Given the description of an element on the screen output the (x, y) to click on. 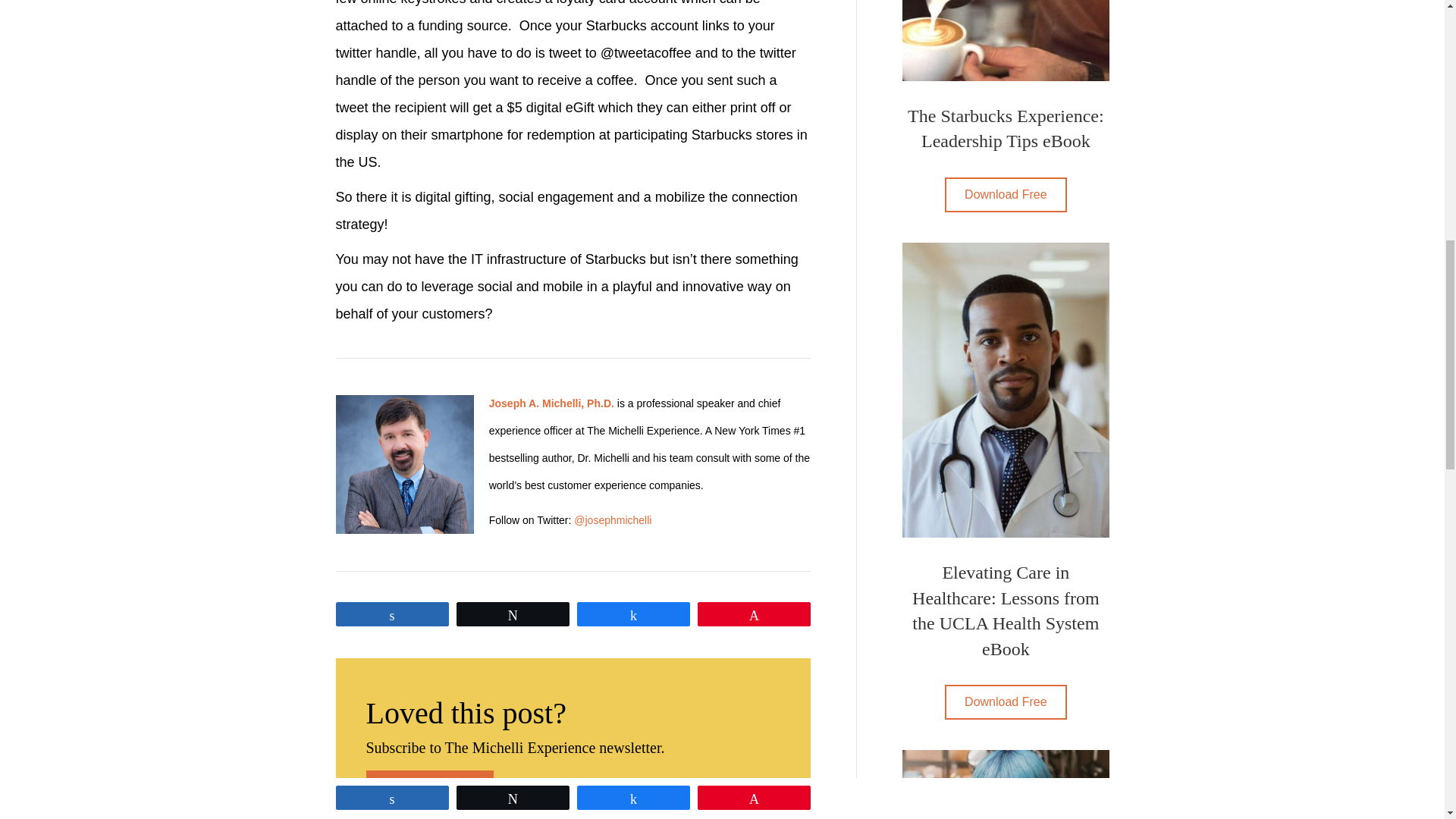
Click Here (1005, 701)
Smoke over black background (403, 463)
Click to Subscribe (429, 788)
Click Here (1005, 194)
Download Free (1005, 701)
Joseph A. Michelli, Ph.D. (551, 403)
Download Free (1005, 194)
The Starbucks Experience: Leadership Tips eBook (1005, 40)
How to Win Every Customer, Every Time, No Excuses! Article (1005, 784)
